Given the description of an element on the screen output the (x, y) to click on. 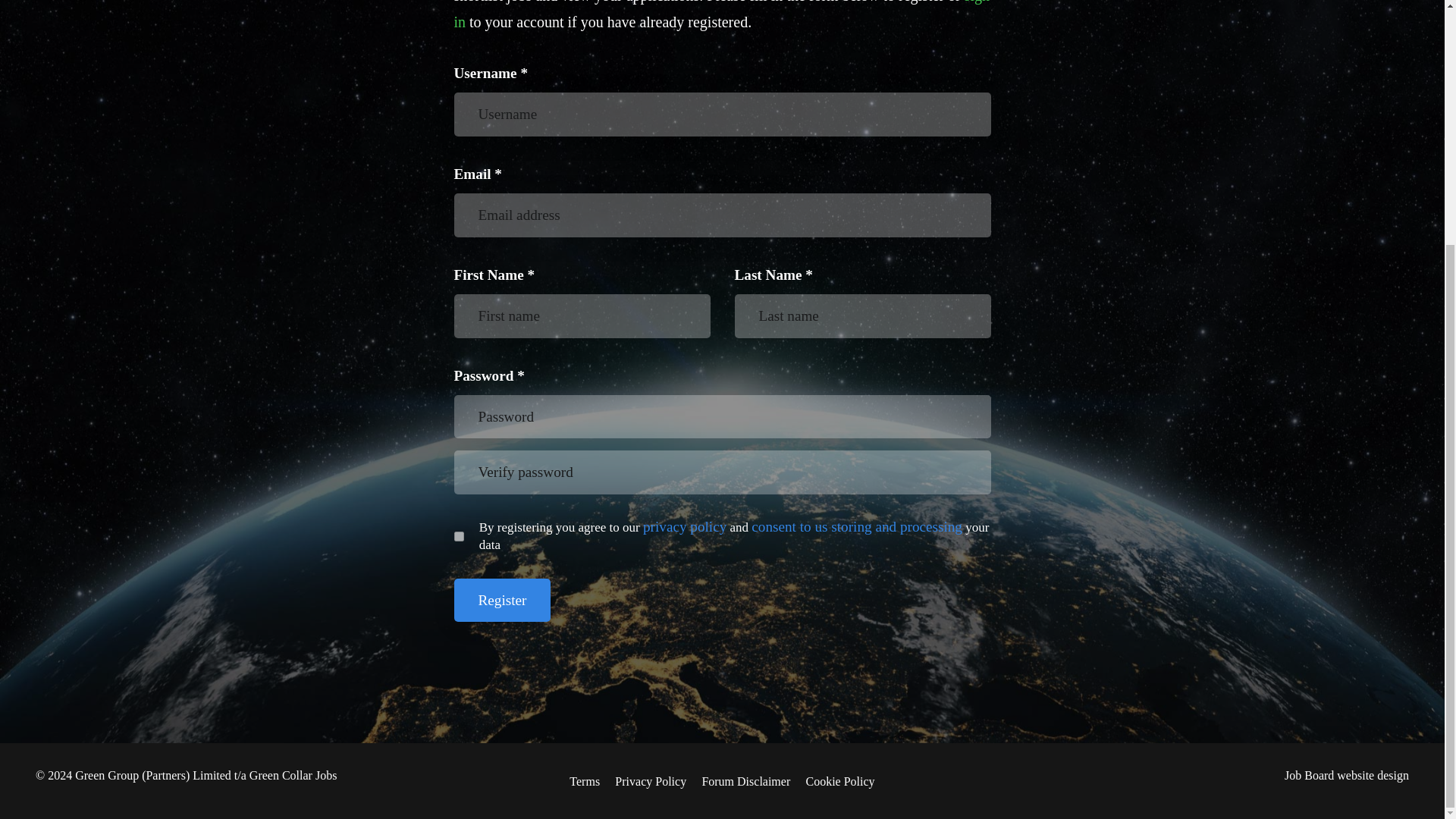
on (457, 536)
Forum Disclaimer (745, 780)
Privacy Policy (649, 780)
Terms (584, 780)
Register (501, 600)
privacy policy (684, 526)
Job Board website design (1346, 775)
consent to us storing and processing (856, 526)
Cookie Policy (840, 780)
sign in (721, 15)
